Given the description of an element on the screen output the (x, y) to click on. 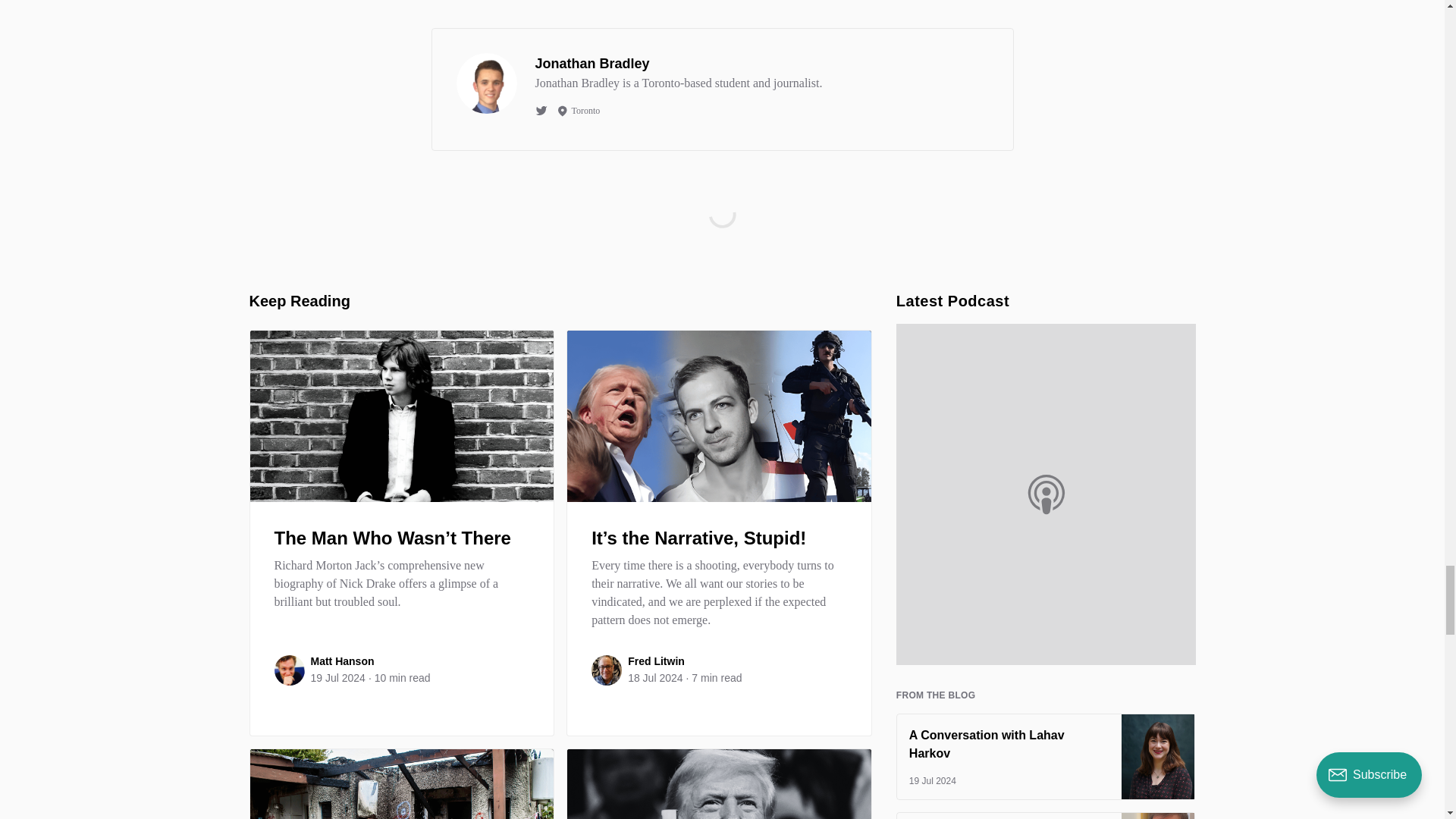
comments-frame (721, 232)
